Given the description of an element on the screen output the (x, y) to click on. 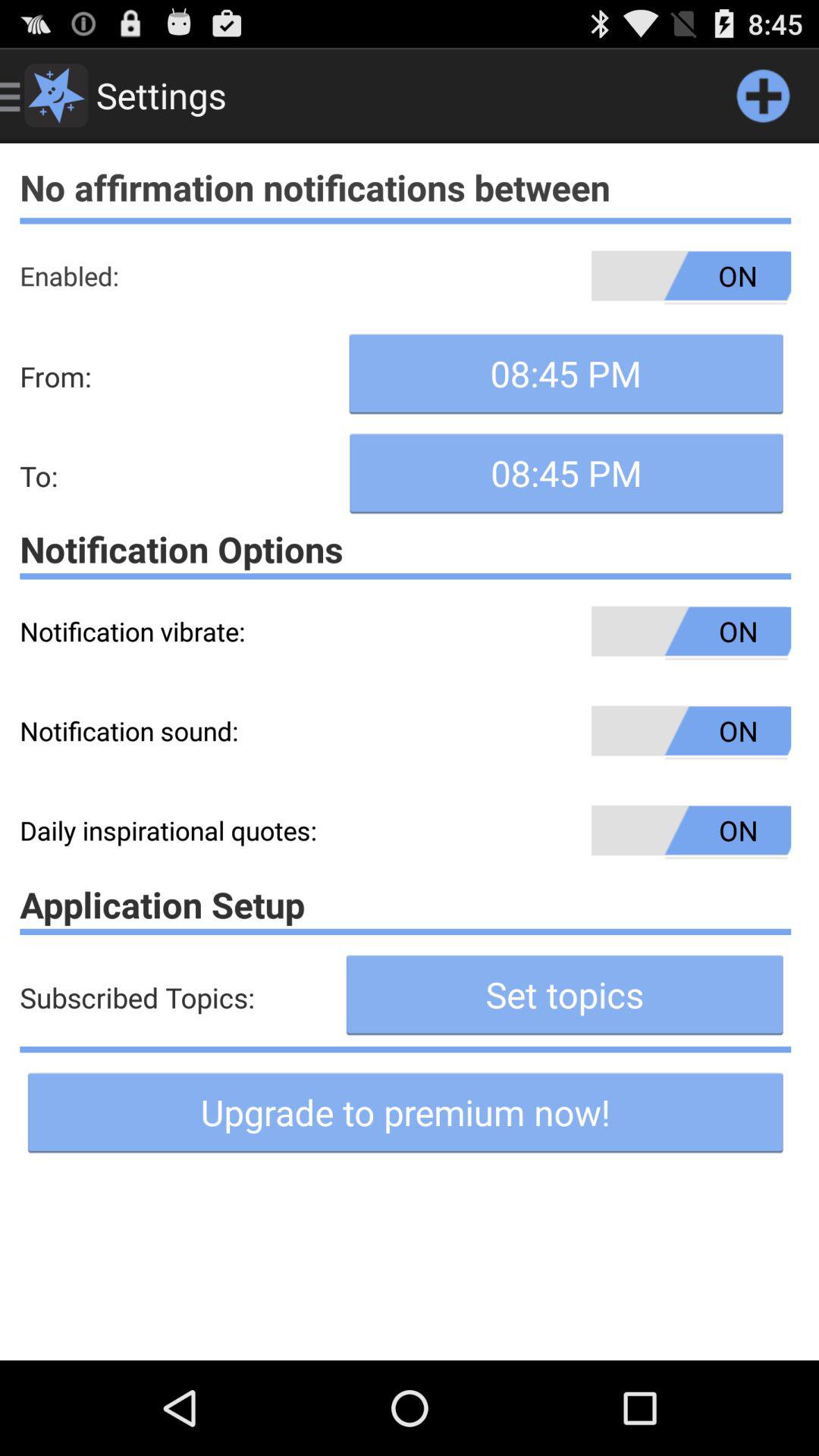
add page (763, 95)
